Given the description of an element on the screen output the (x, y) to click on. 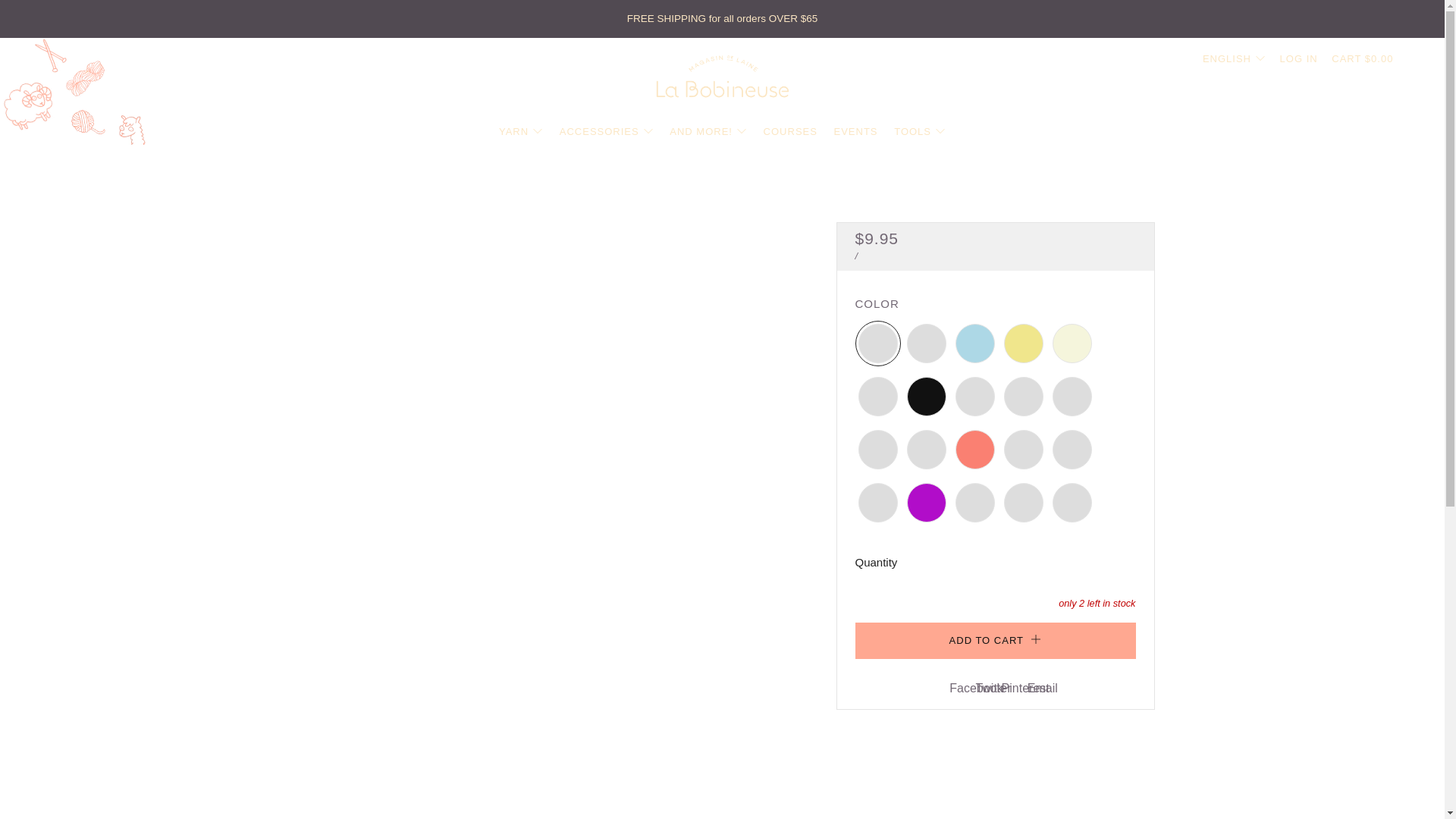
Cart (1362, 58)
